Given the description of an element on the screen output the (x, y) to click on. 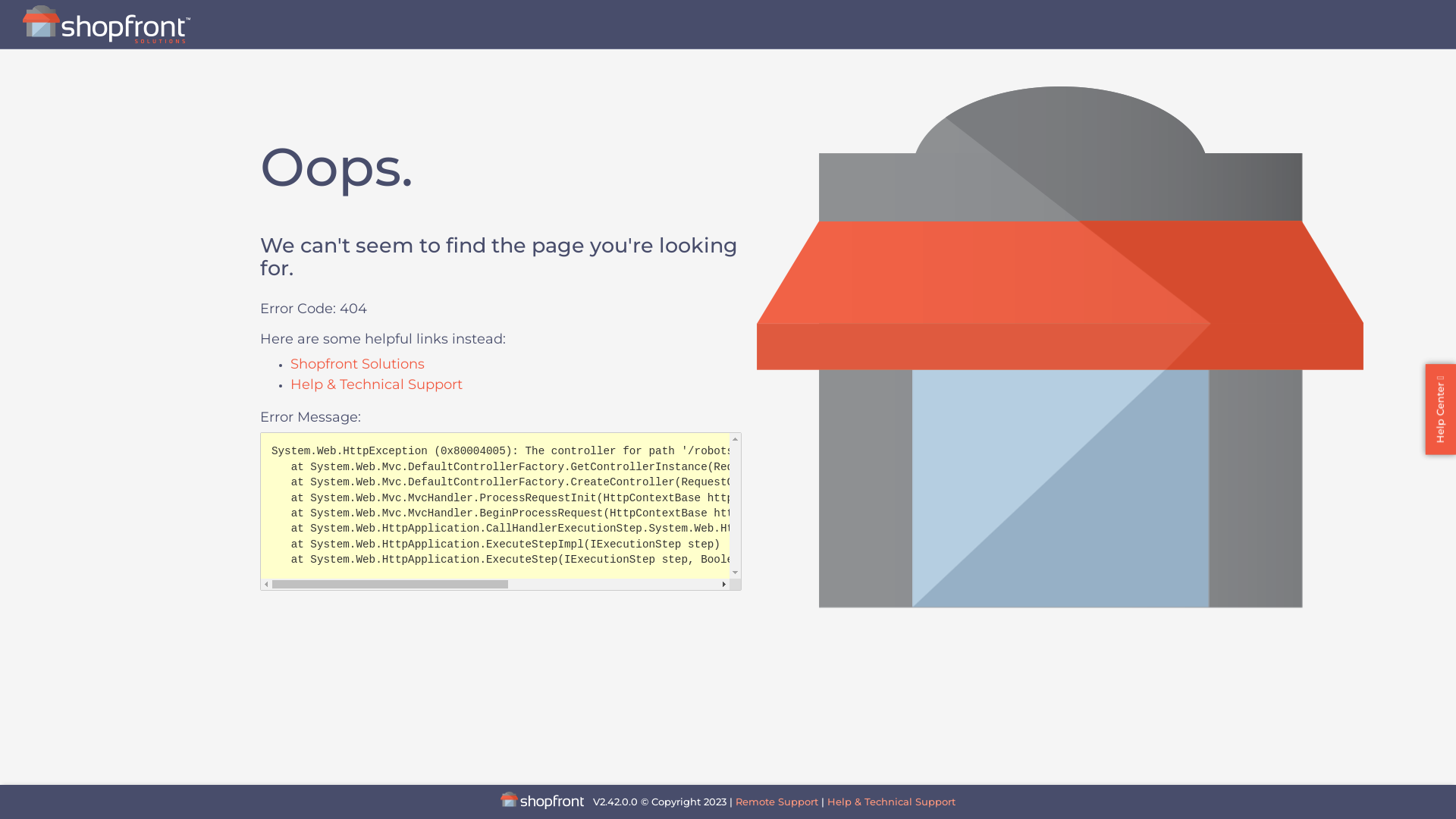
Remote Support Element type: text (776, 801)
Help & Technical Support Element type: text (891, 801)
Help & Technical Support Element type: text (376, 384)
Shopfront Solutions Element type: text (357, 363)
